Given the description of an element on the screen output the (x, y) to click on. 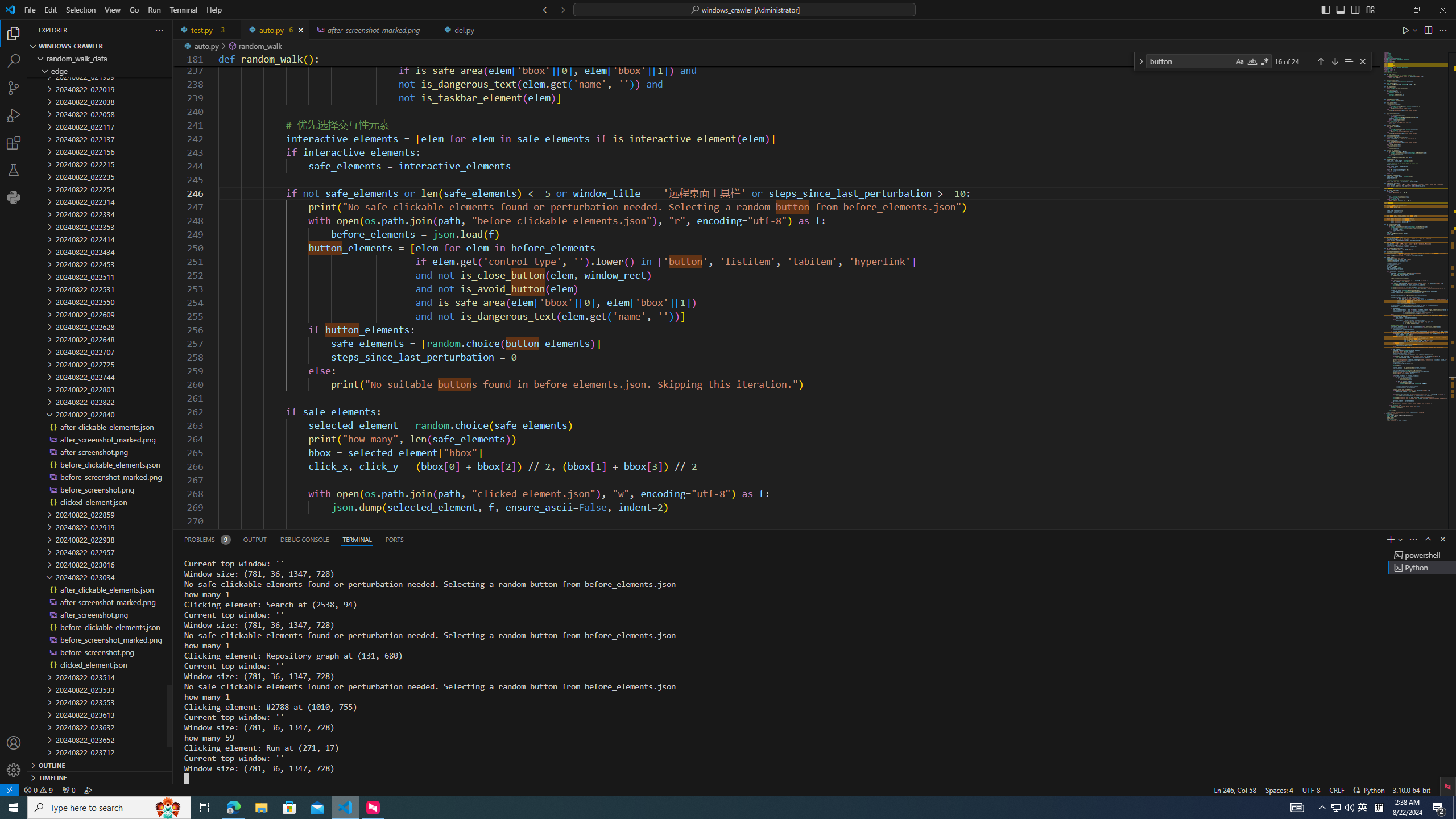
No Ports Forwarded (68, 789)
More Actions... (1442, 29)
Ports actions (917, 539)
Tab actions (495, 29)
Title actions (1347, 9)
Ports (394, 539)
Editor actions (1425, 29)
Maximize Panel Size (1428, 539)
Close (Ctrl+F4) (496, 29)
Run (153, 9)
Launch Profile... (1400, 539)
Python (13, 197)
